Given the description of an element on the screen output the (x, y) to click on. 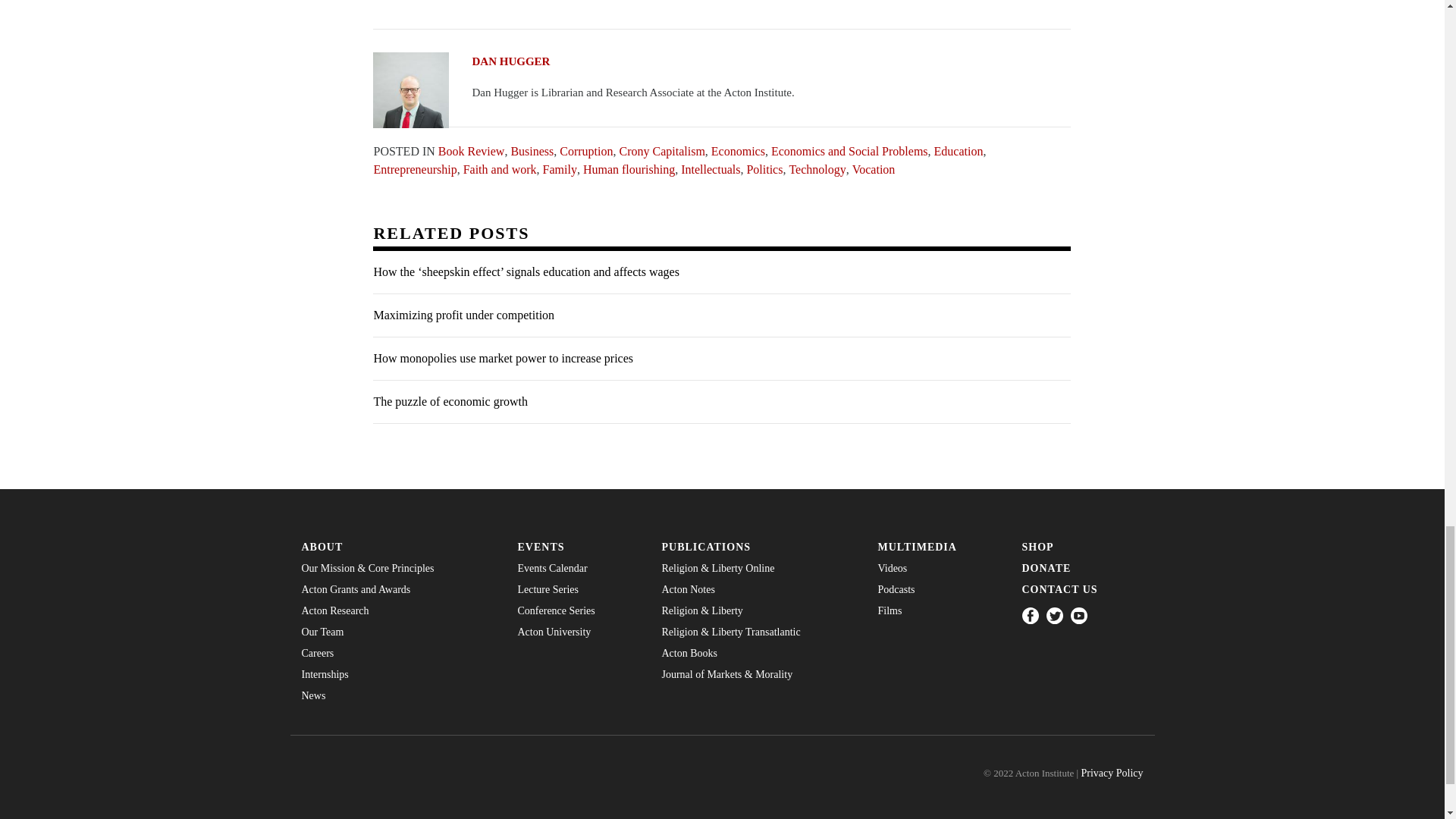
Human flourishing (629, 168)
Maximizing profit under competition (721, 315)
Economics and Social Problems (849, 150)
Family (559, 168)
Education (959, 150)
Business (532, 150)
How monopolies use market power to increase prices (721, 358)
Economics (738, 150)
Entrepreneurship (414, 168)
Faith and work (500, 168)
